Given the description of an element on the screen output the (x, y) to click on. 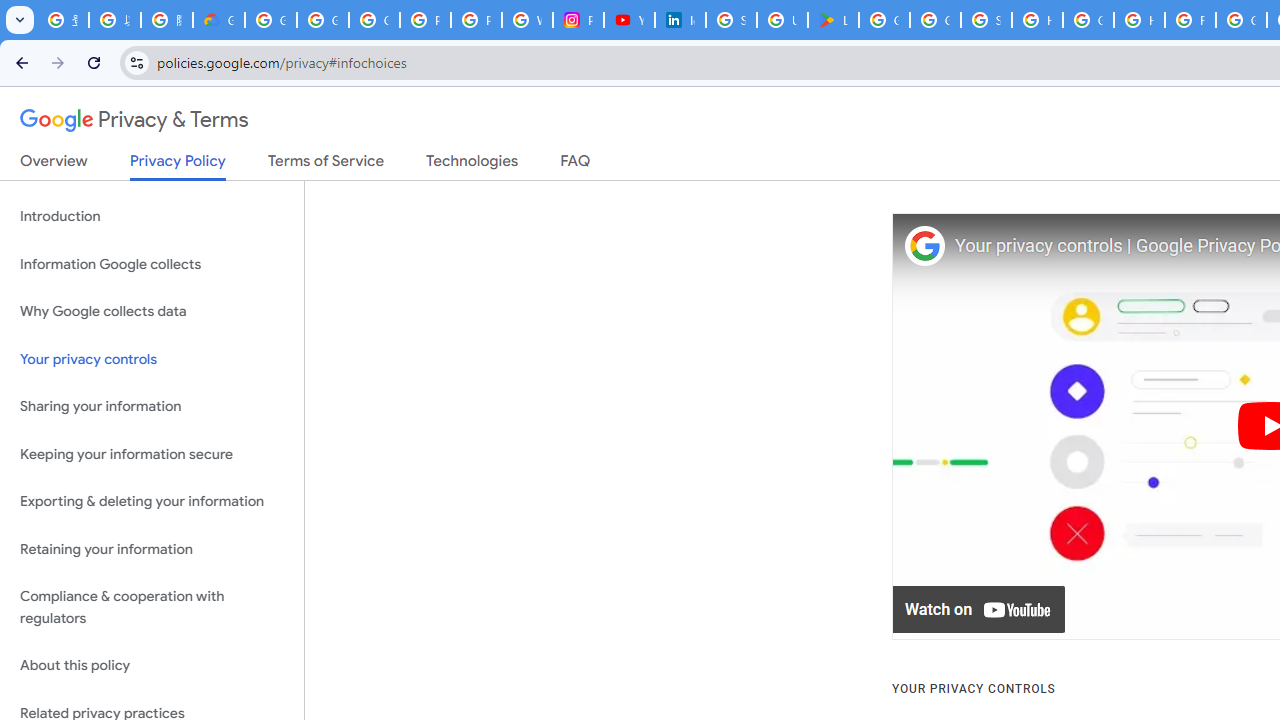
Last Shelter: Survival - Apps on Google Play (832, 20)
